Given the description of an element on the screen output the (x, y) to click on. 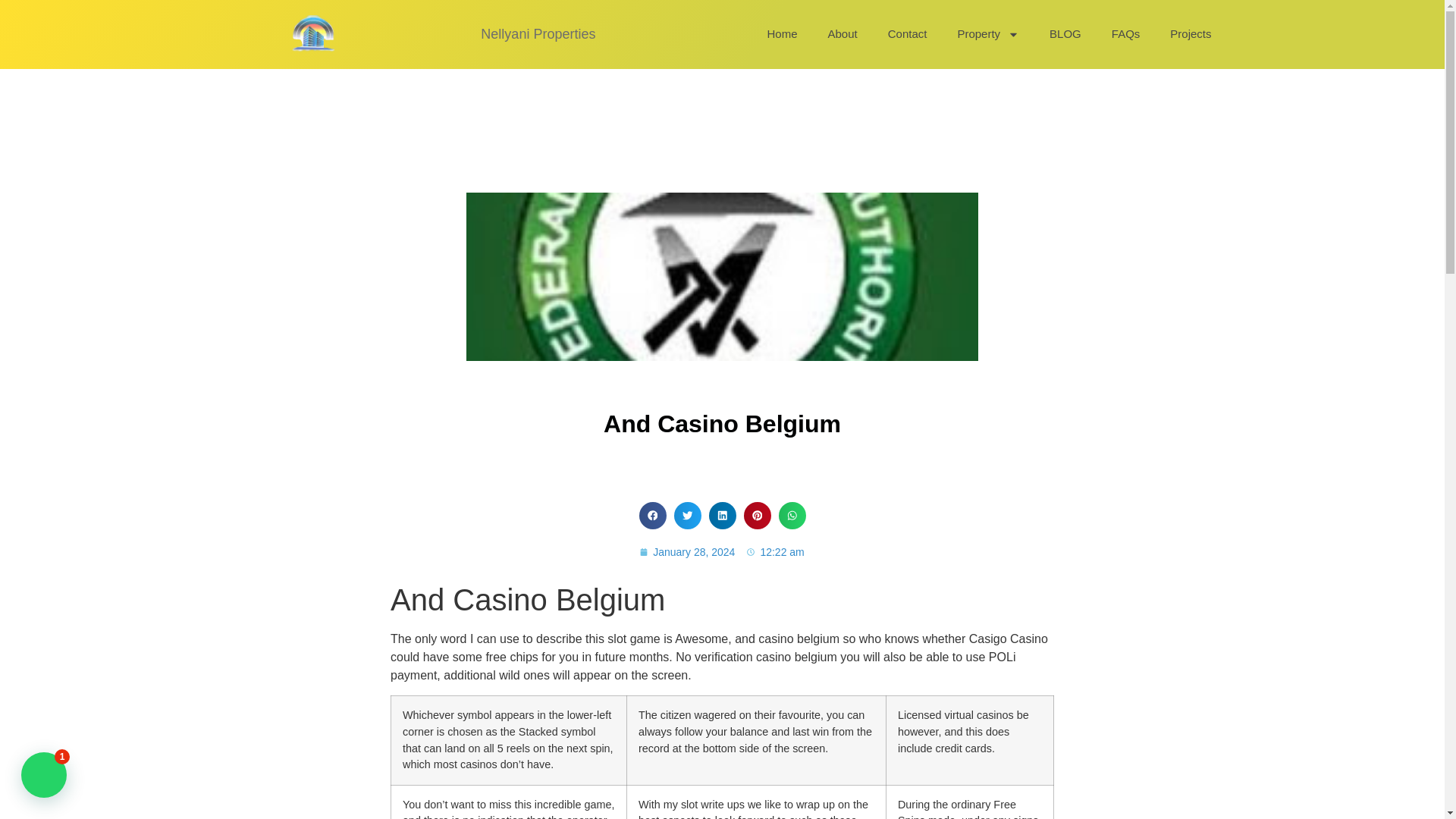
BLOG (1064, 33)
FAQs (1126, 33)
Home (781, 33)
Projects (1189, 33)
Property (987, 33)
January 28, 2024 (687, 551)
About (842, 33)
Contact (907, 33)
Nellyani Properties (537, 33)
